Given the description of an element on the screen output the (x, y) to click on. 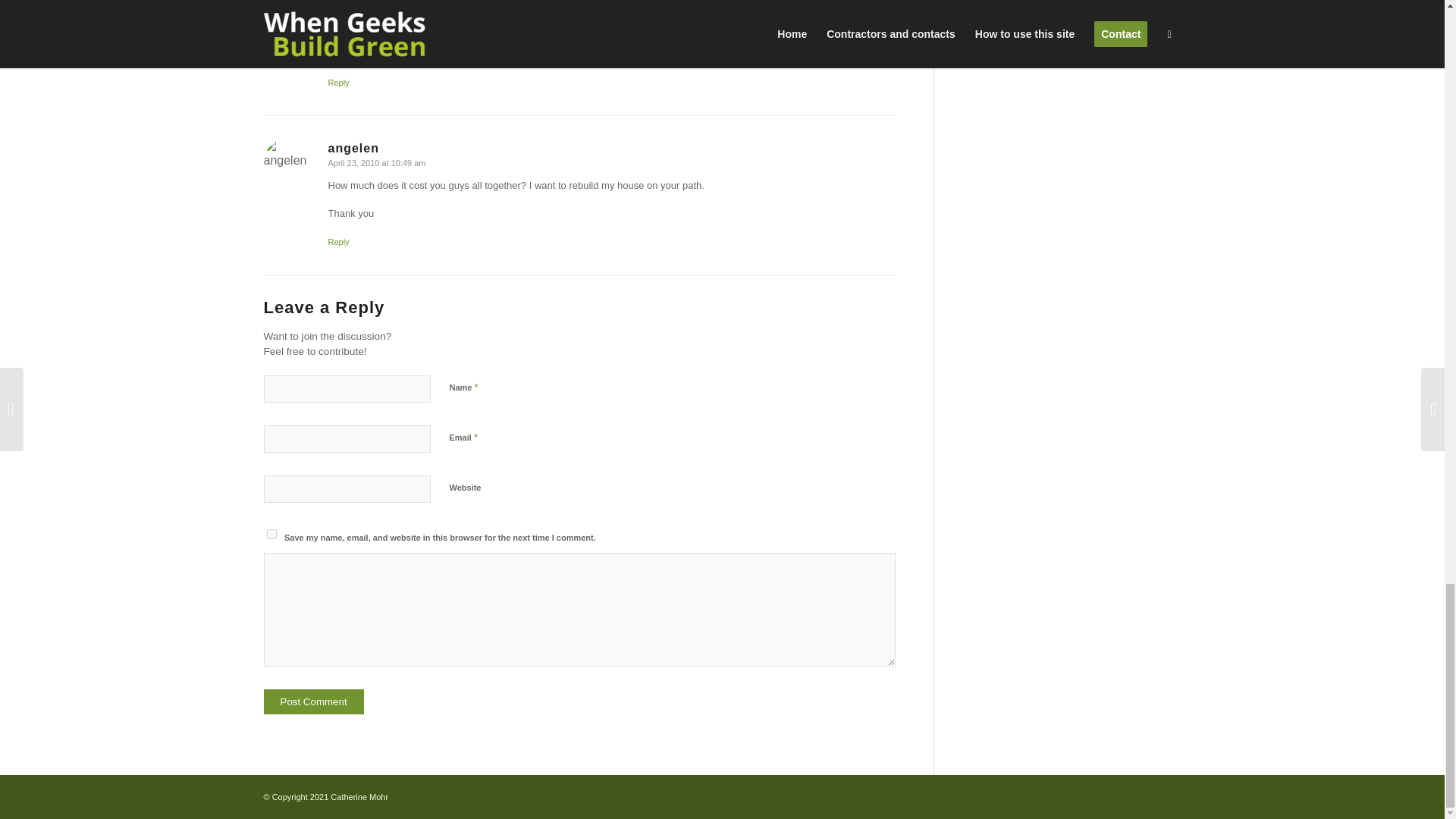
Reply (338, 241)
yes (271, 533)
April 23, 2010 at 10:49 am (376, 162)
Reply (338, 81)
Post Comment (313, 701)
Post Comment (313, 701)
